Given the description of an element on the screen output the (x, y) to click on. 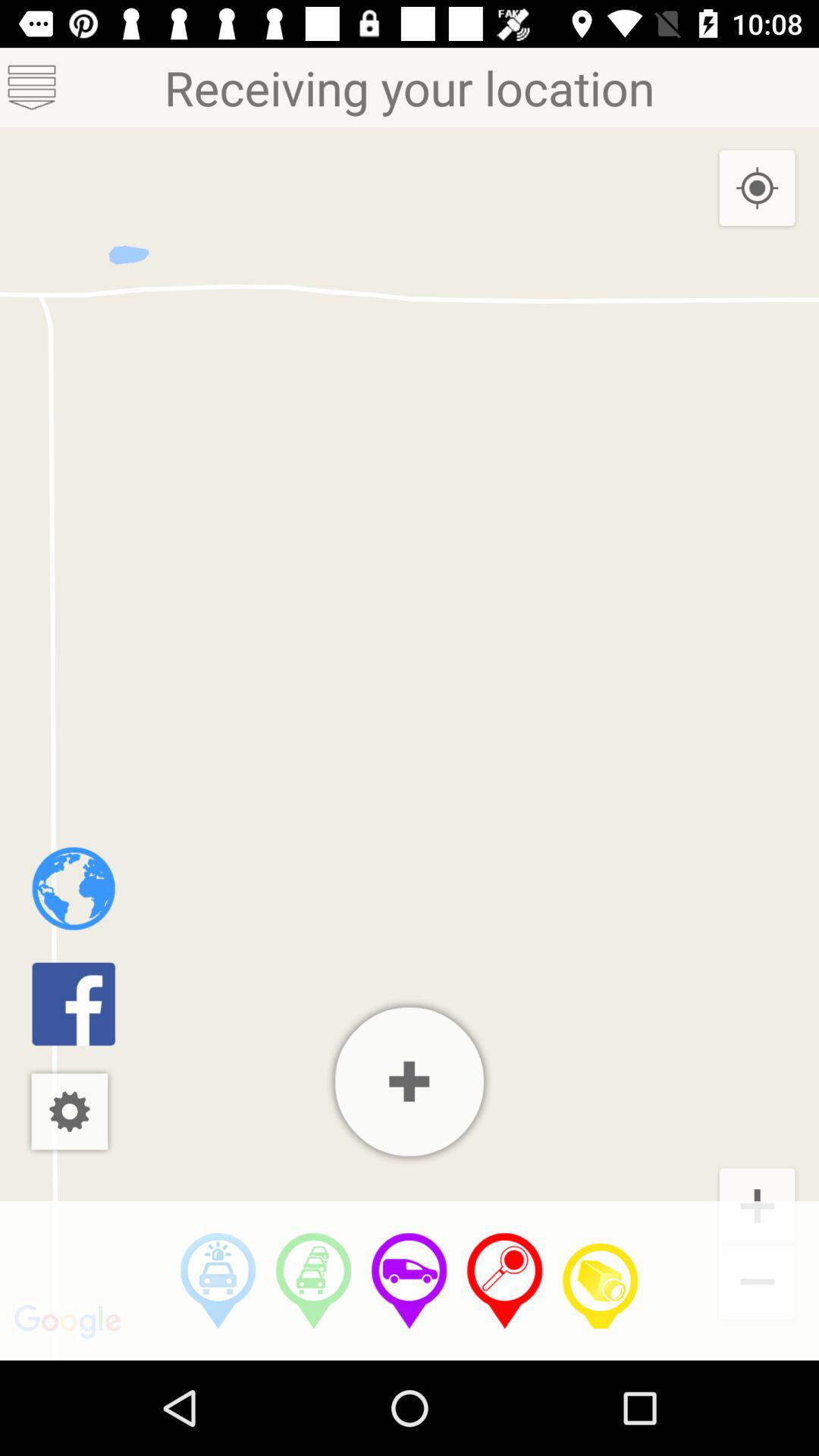
click zoom in option (409, 1081)
